Given the description of an element on the screen output the (x, y) to click on. 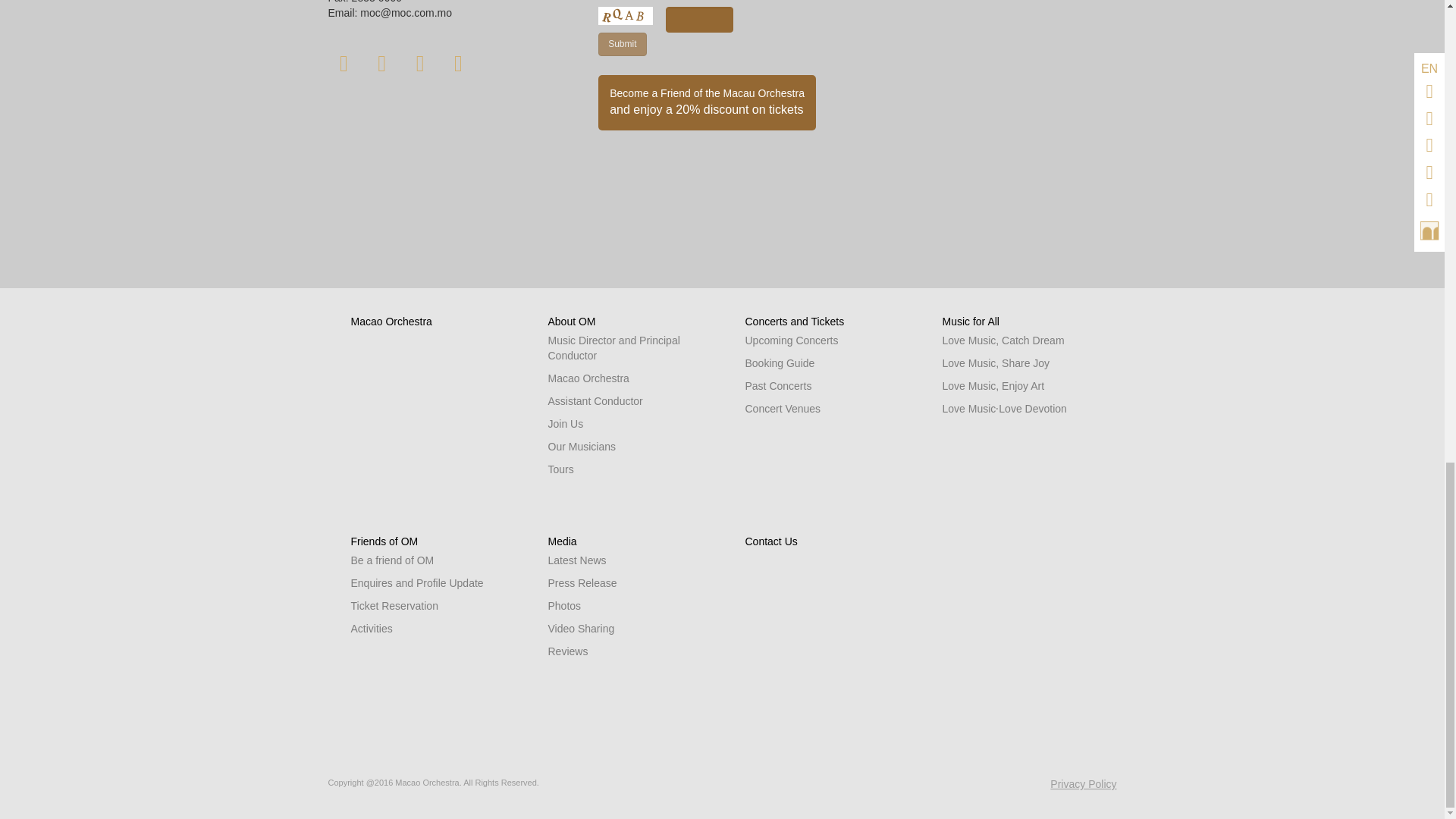
Submit (622, 44)
